Given the description of an element on the screen output the (x, y) to click on. 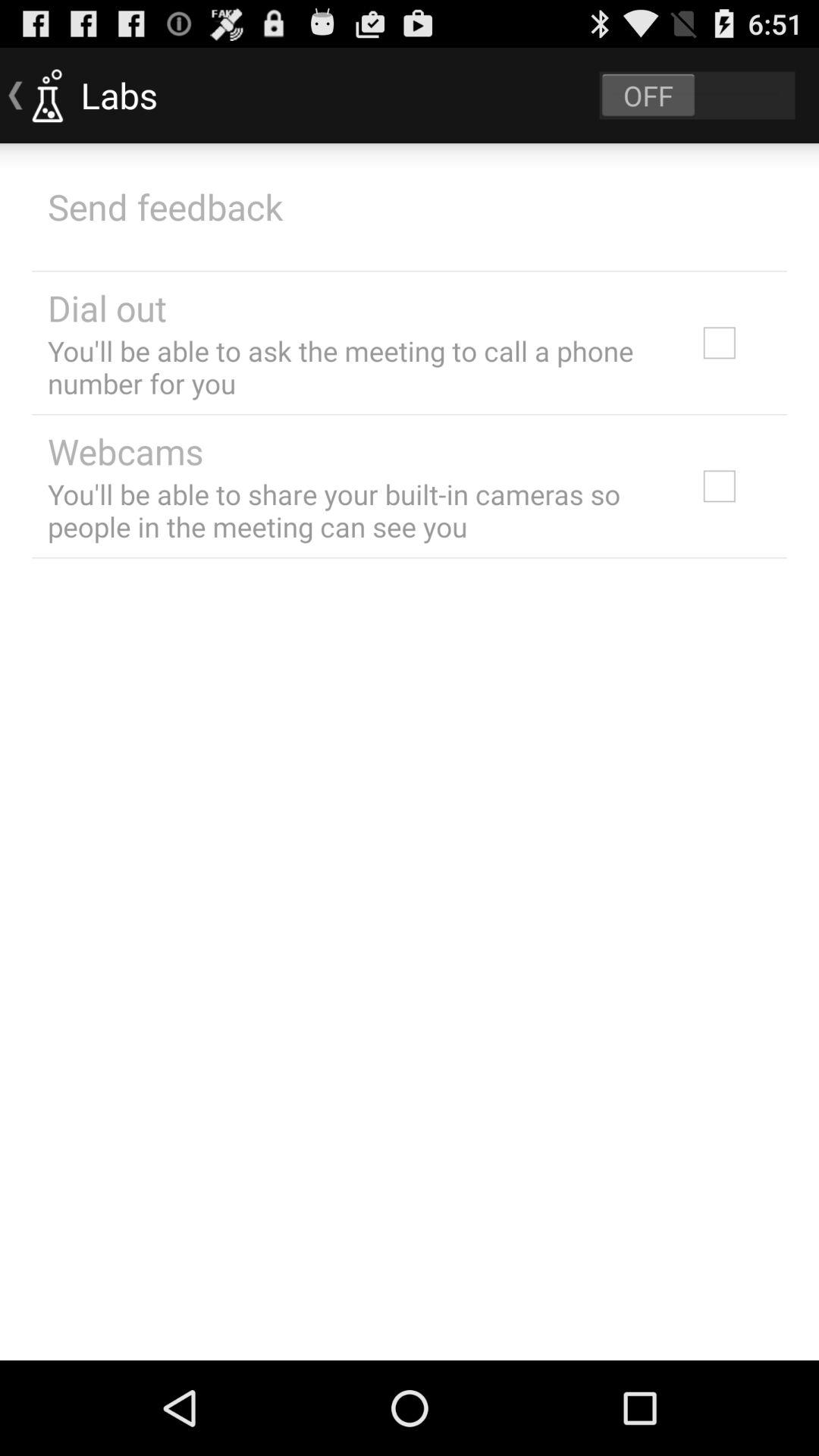
toggle labs on or off (697, 95)
